Given the description of an element on the screen output the (x, y) to click on. 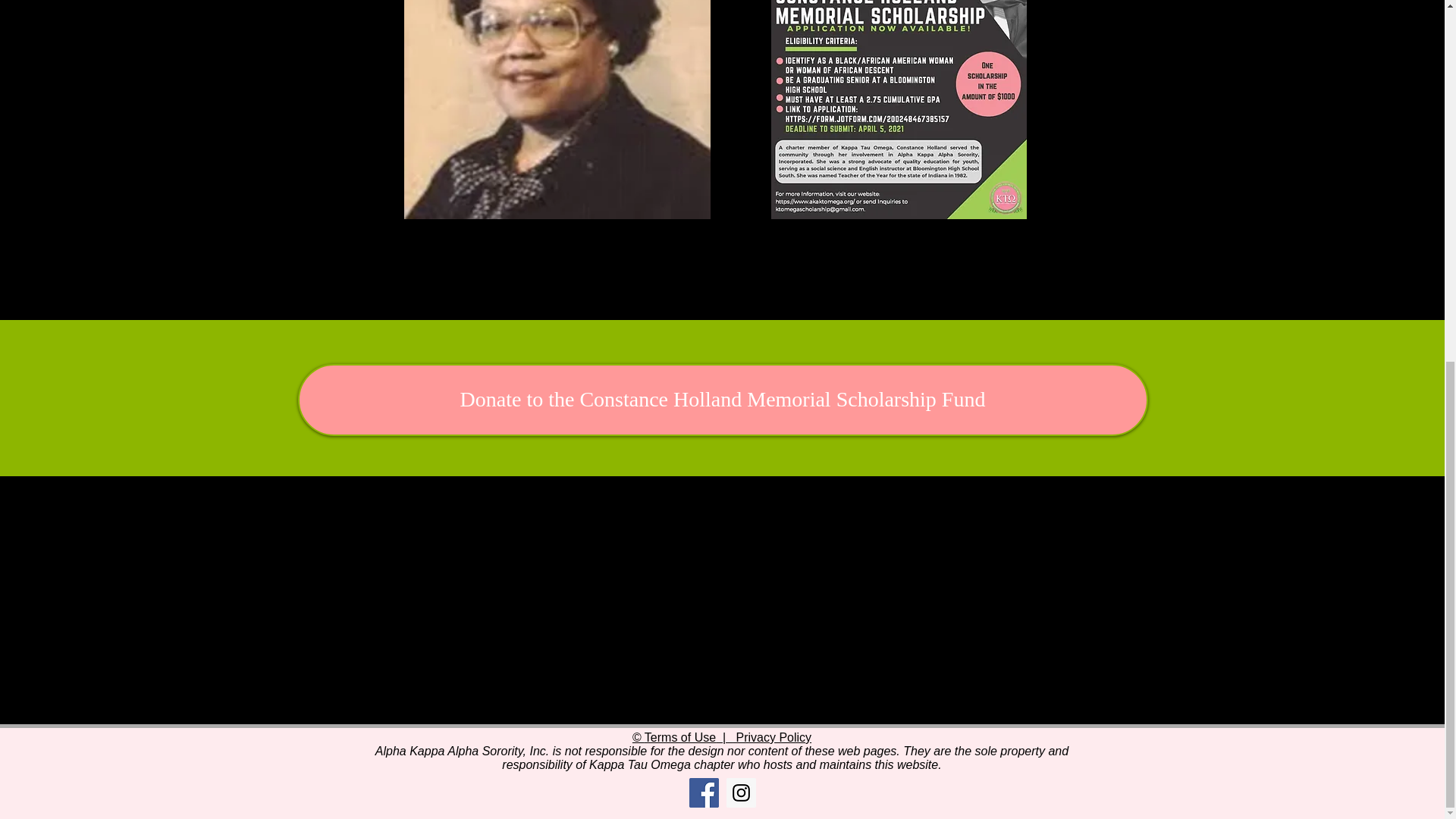
Terms of Use (680, 737)
Donate to the Constance Holland Memorial Scholarship Fund (722, 399)
 Privacy Policy (771, 737)
